Given the description of an element on the screen output the (x, y) to click on. 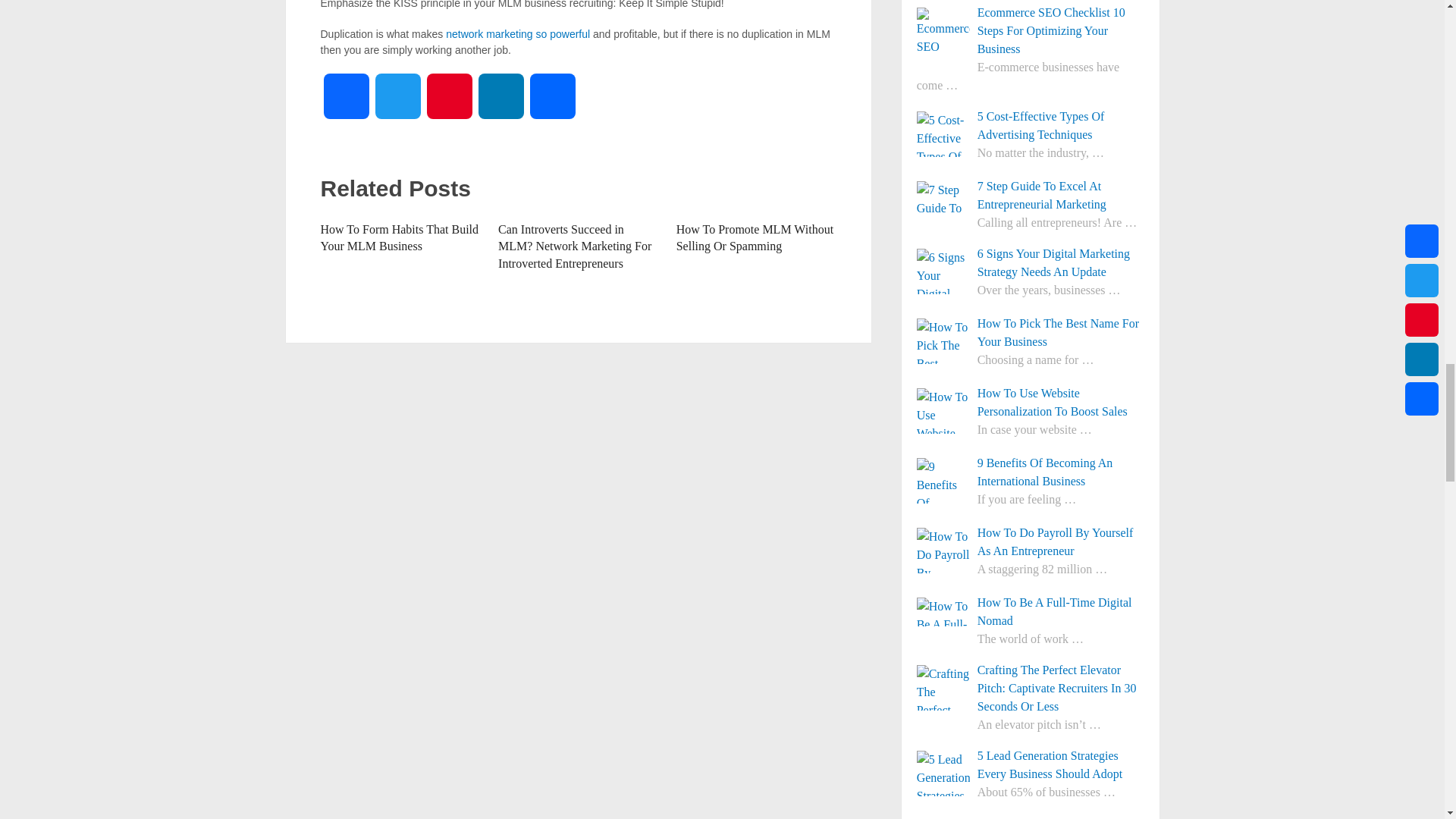
How To Form Habits That Build Your MLM Business (399, 237)
How To Promote MLM Without Selling Or Spamming (754, 237)
How To Form Habits That Build Your MLM Business (399, 237)
How To Promote MLM Without Selling Or Spamming (754, 237)
network marketing so powerful (517, 33)
